Given the description of an element on the screen output the (x, y) to click on. 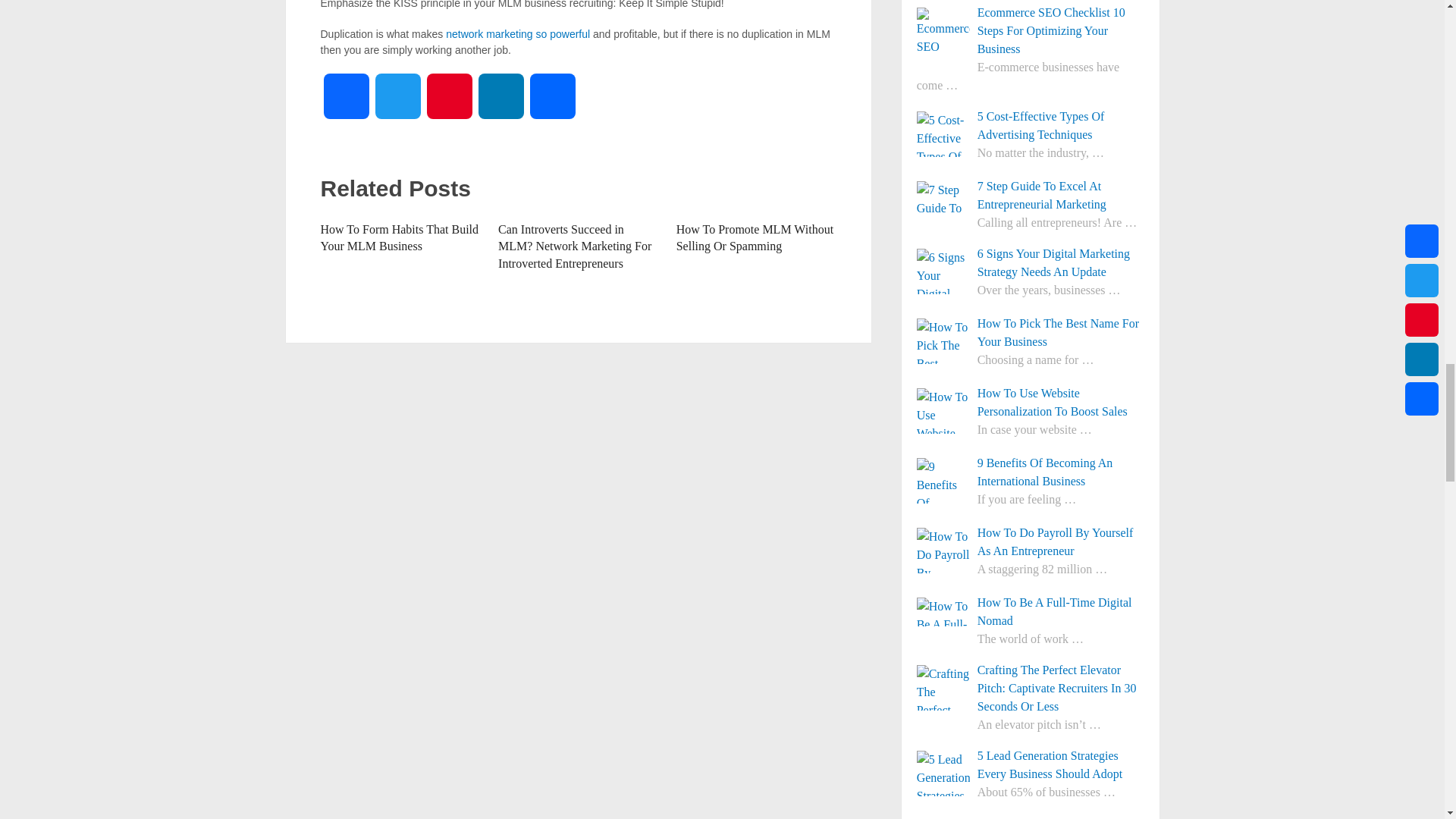
How To Form Habits That Build Your MLM Business (399, 237)
How To Promote MLM Without Selling Or Spamming (754, 237)
How To Form Habits That Build Your MLM Business (399, 237)
How To Promote MLM Without Selling Or Spamming (754, 237)
network marketing so powerful (517, 33)
